Given the description of an element on the screen output the (x, y) to click on. 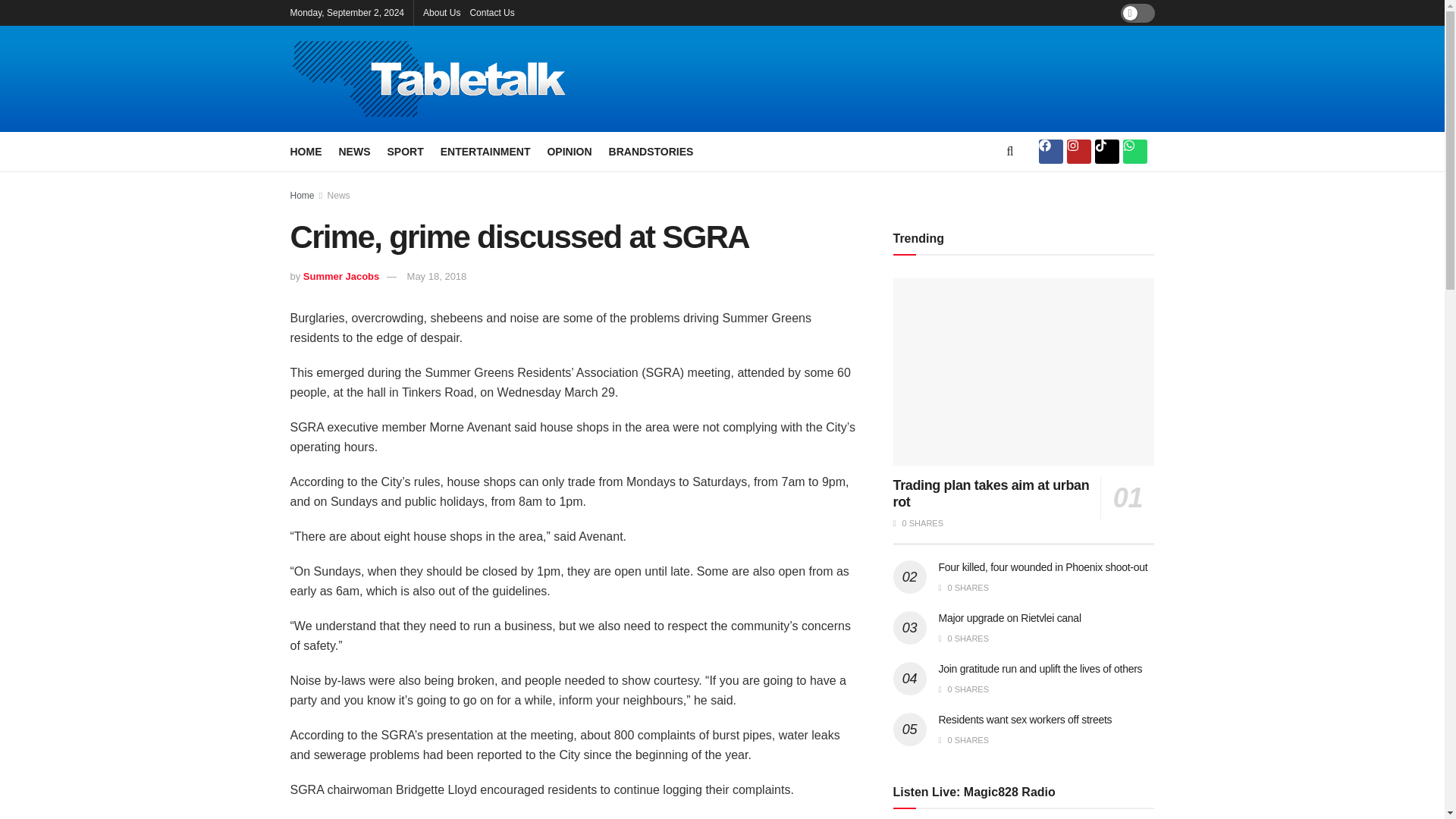
OPINION (569, 151)
Contact Us (490, 12)
NEWS (353, 151)
BRANDSTORIES (651, 151)
News (338, 195)
ENTERTAINMENT (486, 151)
HOME (305, 151)
Summer Jacobs (340, 276)
About Us (441, 12)
May 18, 2018 (437, 276)
